Given the description of an element on the screen output the (x, y) to click on. 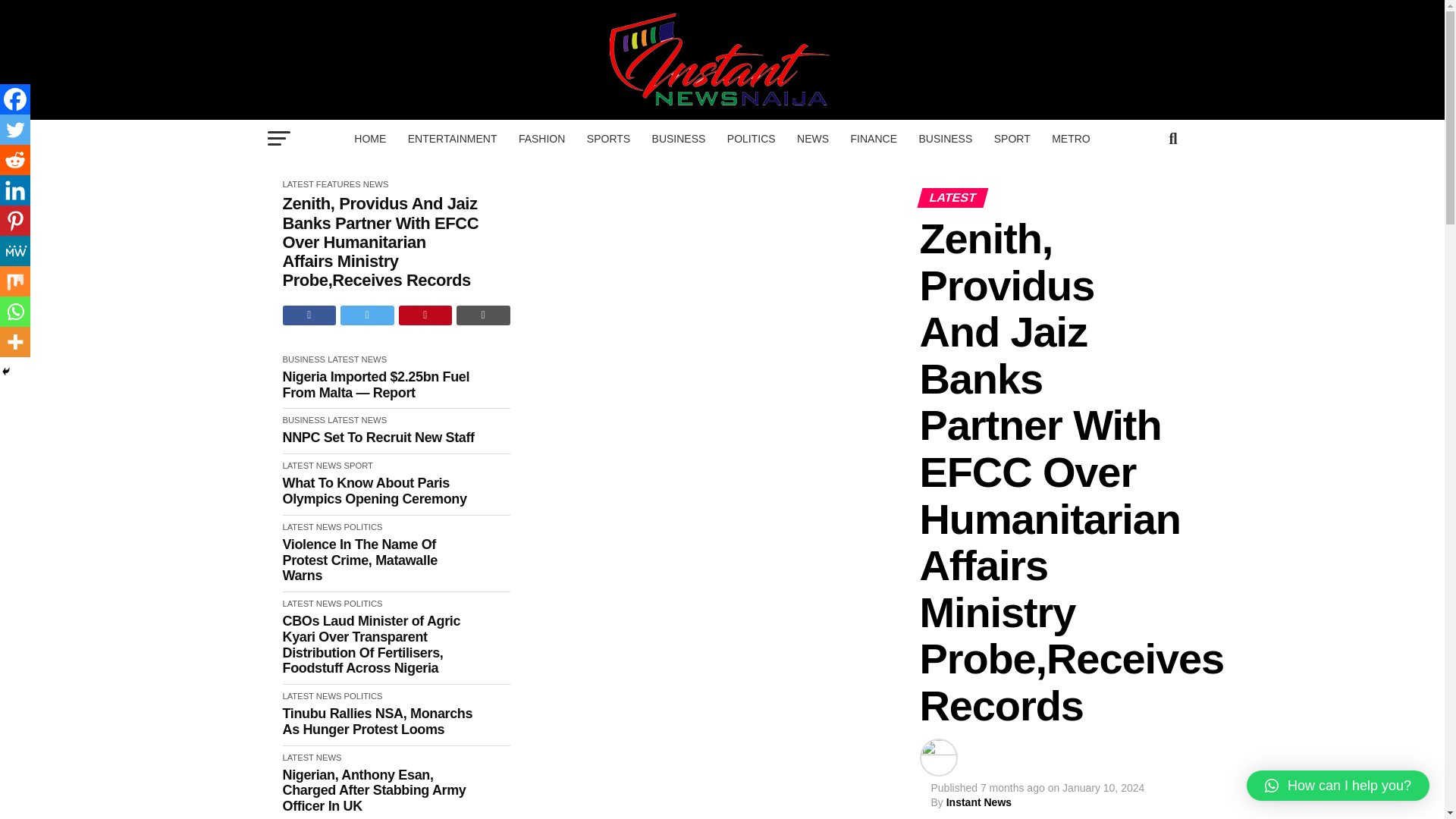
Pin This Post (425, 315)
SPORTS (608, 138)
POLITICS (750, 138)
HOME (369, 138)
BUSINESS (678, 138)
Tweet This Post (367, 315)
Share on Facebook (309, 315)
ENTERTAINMENT (452, 138)
FASHION (541, 138)
